Given the description of an element on the screen output the (x, y) to click on. 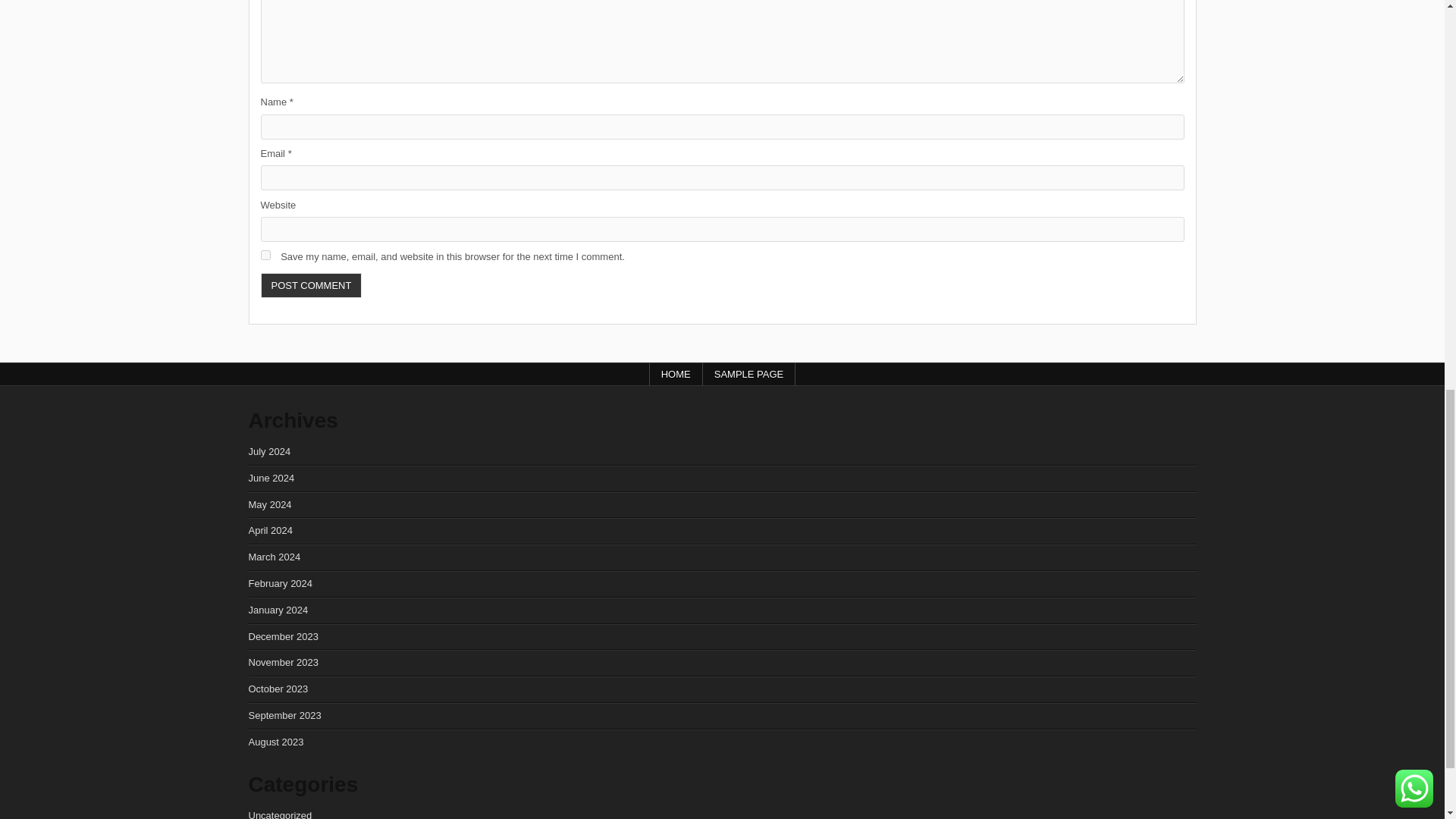
July 2024 (269, 451)
SAMPLE PAGE (749, 373)
Uncategorized (280, 814)
HOME (676, 373)
March 2024 (274, 556)
Post Comment (311, 285)
April 2024 (271, 530)
October 2023 (278, 688)
November 2023 (283, 662)
January 2024 (278, 609)
February 2024 (280, 583)
Post Comment (311, 285)
May 2024 (270, 504)
June 2024 (271, 478)
August 2023 (276, 741)
